Given the description of an element on the screen output the (x, y) to click on. 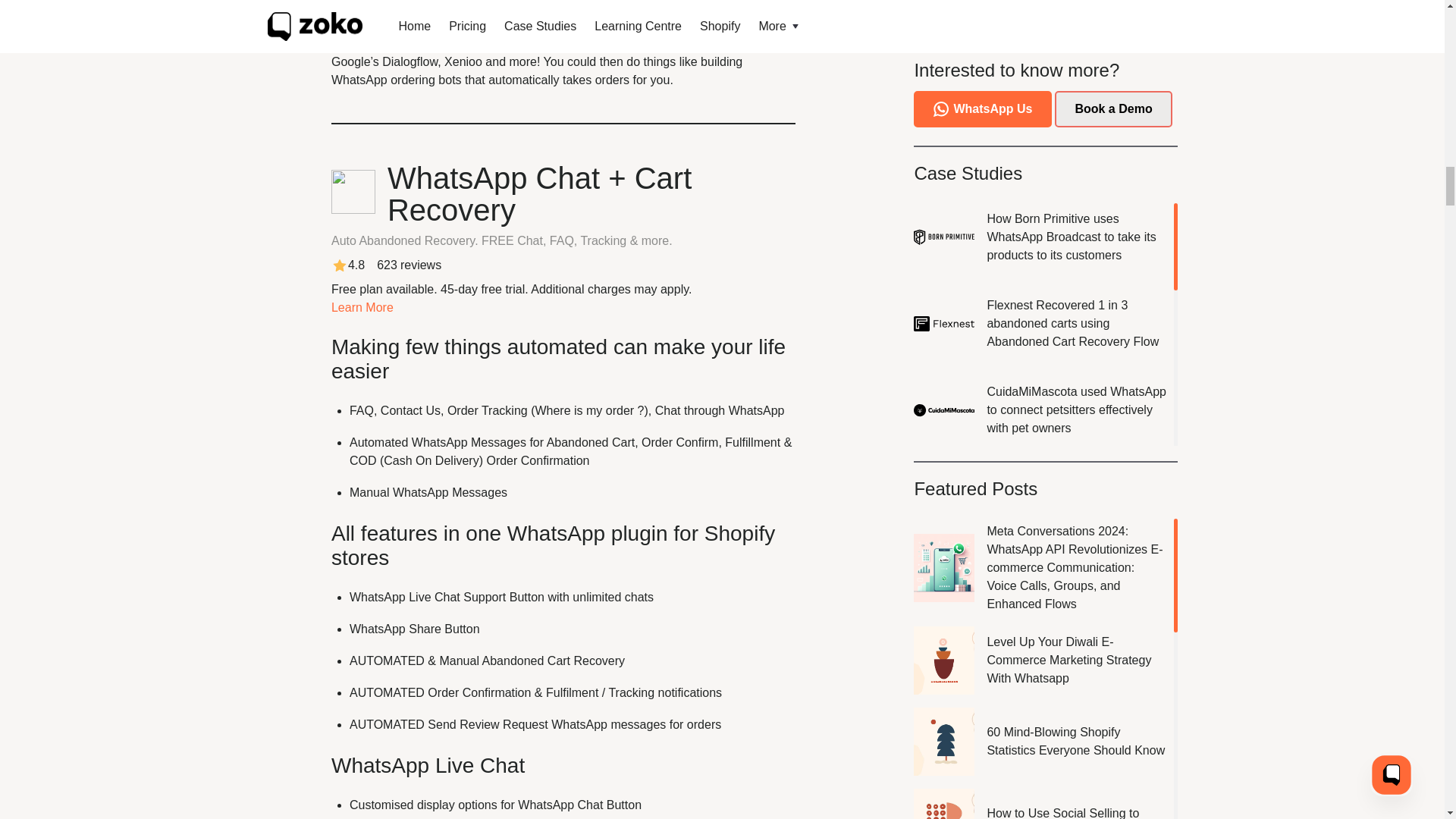
Learn More (362, 307)
